Given the description of an element on the screen output the (x, y) to click on. 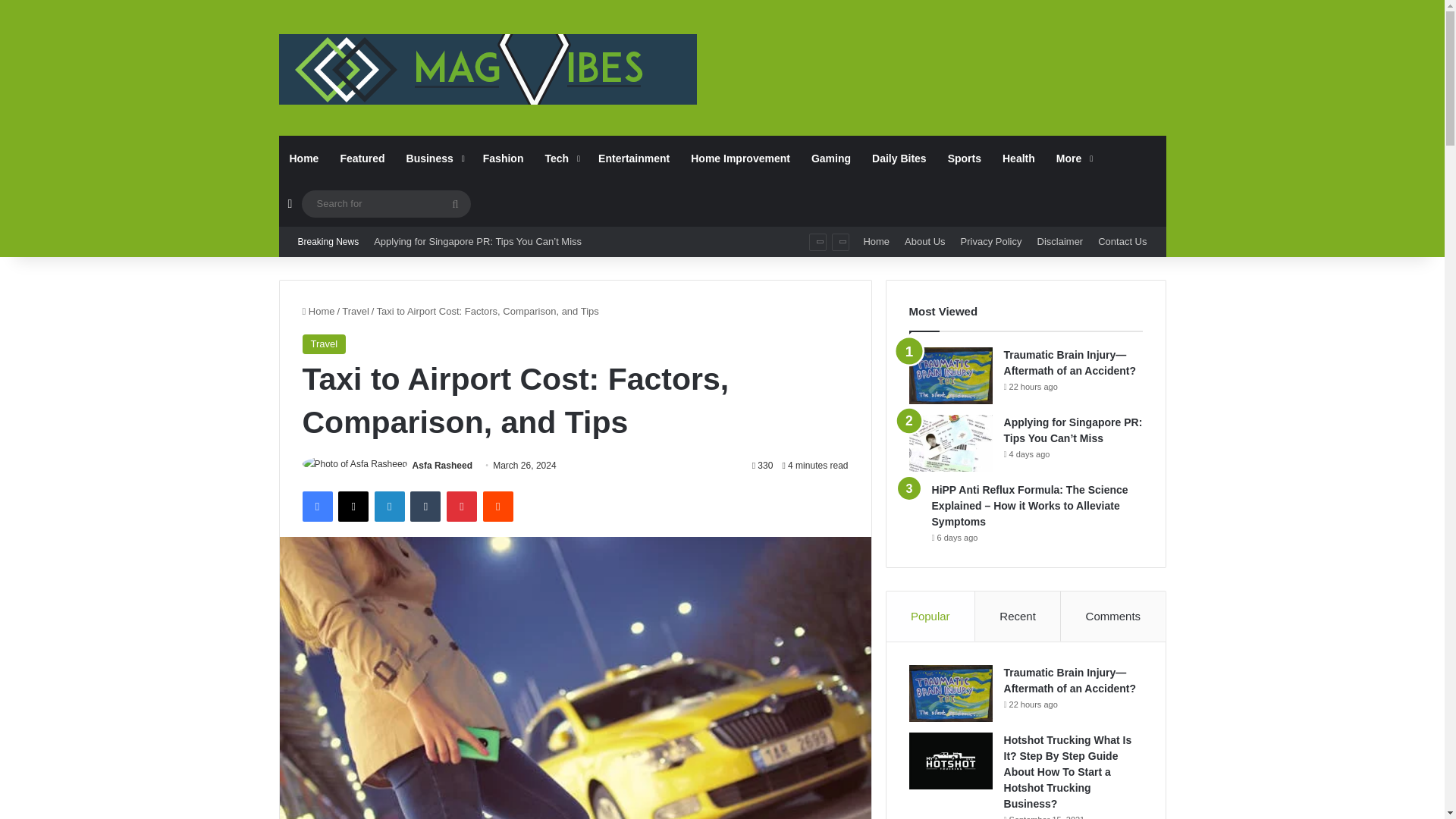
Home Improvement (739, 157)
Privacy Policy (991, 241)
Business (433, 157)
Mag Vibes (488, 69)
Facebook (316, 506)
Facebook (316, 506)
Search for (454, 203)
Contact Us (1122, 241)
Home (304, 157)
Featured (361, 157)
